Given the description of an element on the screen output the (x, y) to click on. 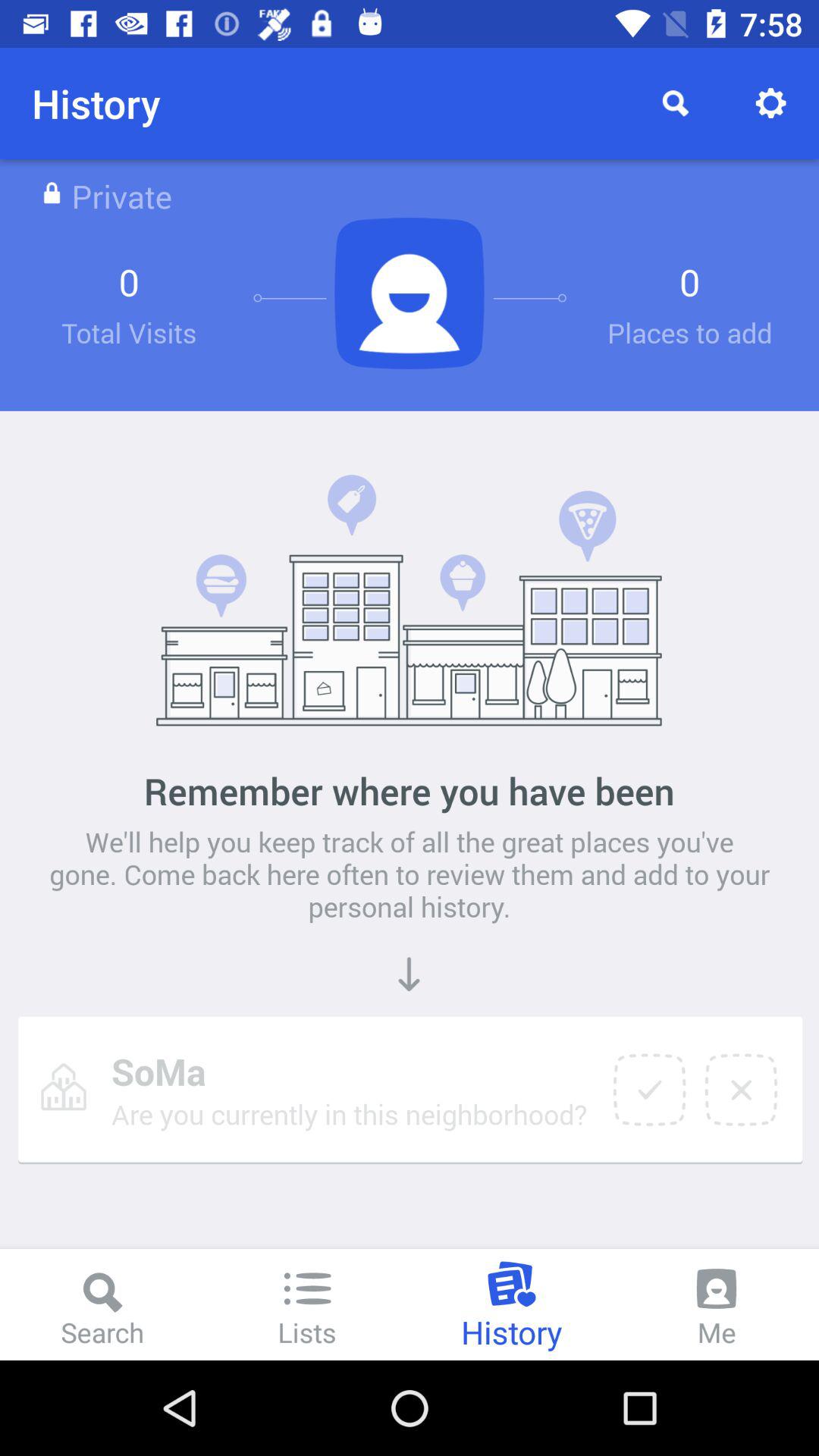
turn off item above the 0 icon (771, 103)
